Given the description of an element on the screen output the (x, y) to click on. 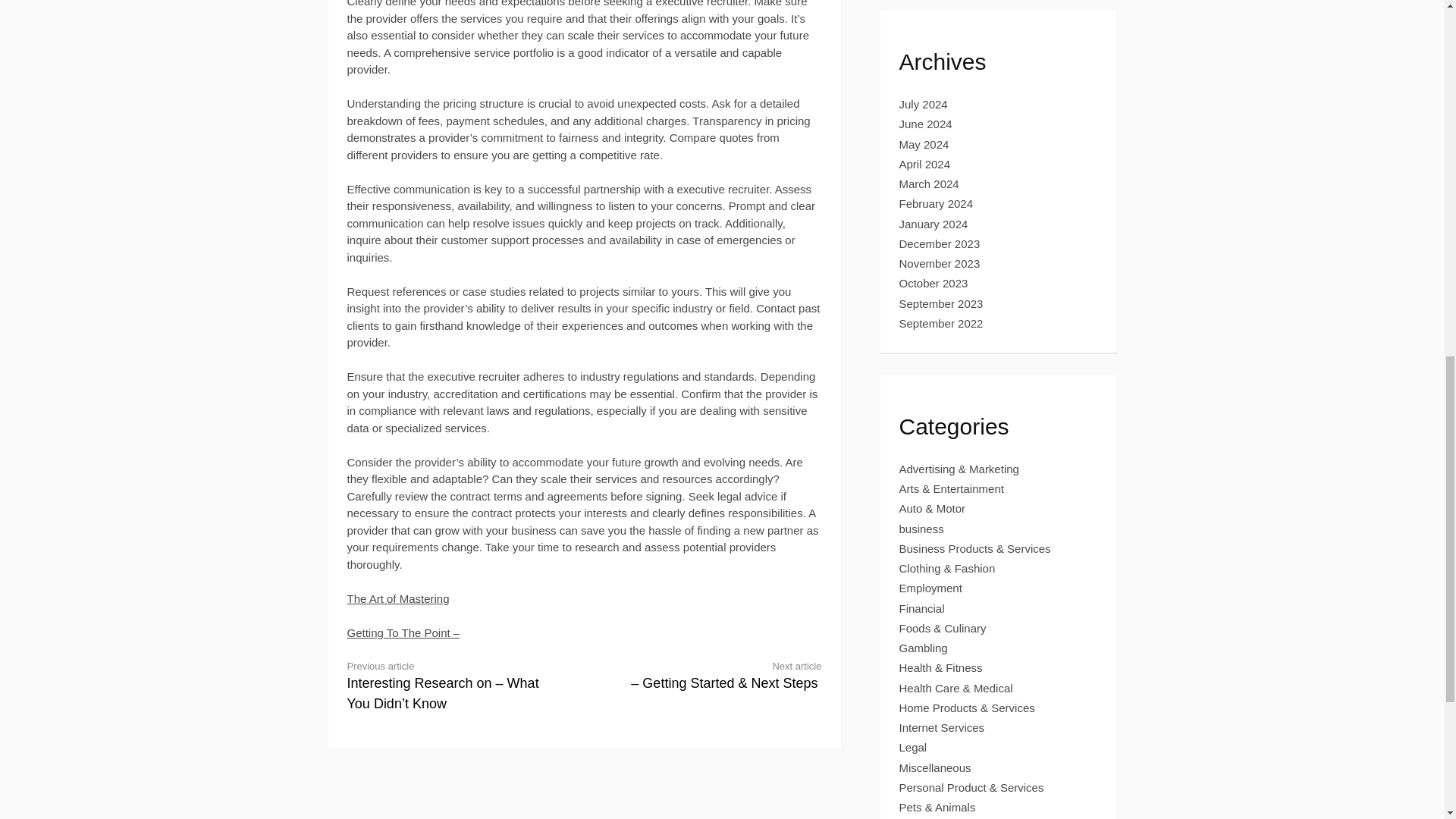
September 2022 (941, 323)
May 2024 (924, 144)
business (921, 528)
November 2023 (939, 263)
June 2024 (925, 123)
September 2023 (941, 303)
April 2024 (924, 164)
The Art of Mastering (398, 598)
January 2024 (933, 223)
October 2023 (933, 282)
February 2024 (936, 203)
July 2024 (923, 103)
March 2024 (929, 183)
December 2023 (939, 243)
